Given the description of an element on the screen output the (x, y) to click on. 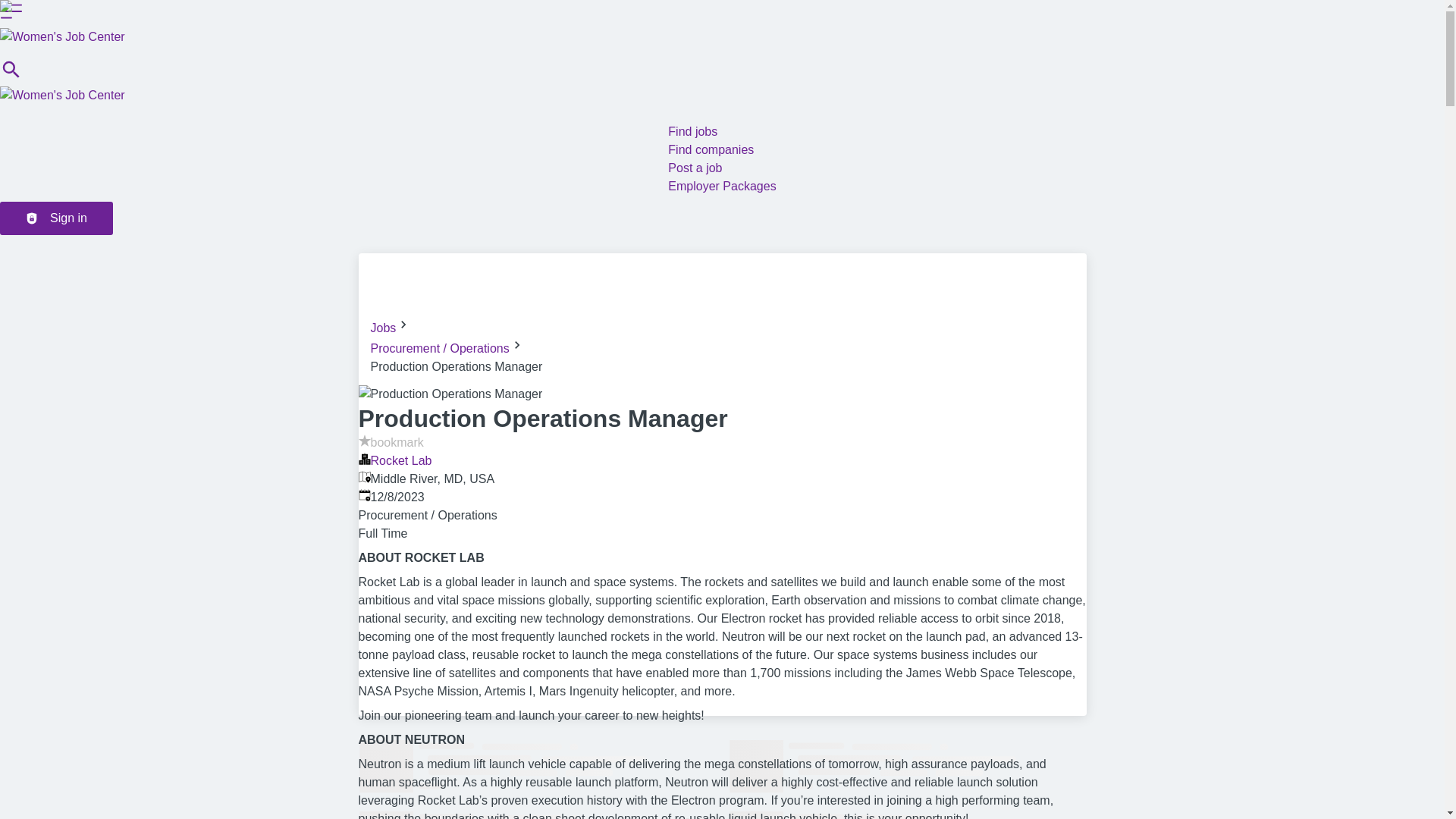
Find companies (711, 149)
Production Operations Manager (449, 393)
Menu (11, 11)
Post a job (695, 167)
company (363, 458)
bookmark (390, 441)
Loading interface... (537, 815)
Loading interface... (537, 766)
Rocket Lab (399, 460)
Published (363, 494)
Sign in (56, 218)
Loading interface... (907, 815)
location (363, 476)
Jobs (382, 327)
Search (11, 76)
